Given the description of an element on the screen output the (x, y) to click on. 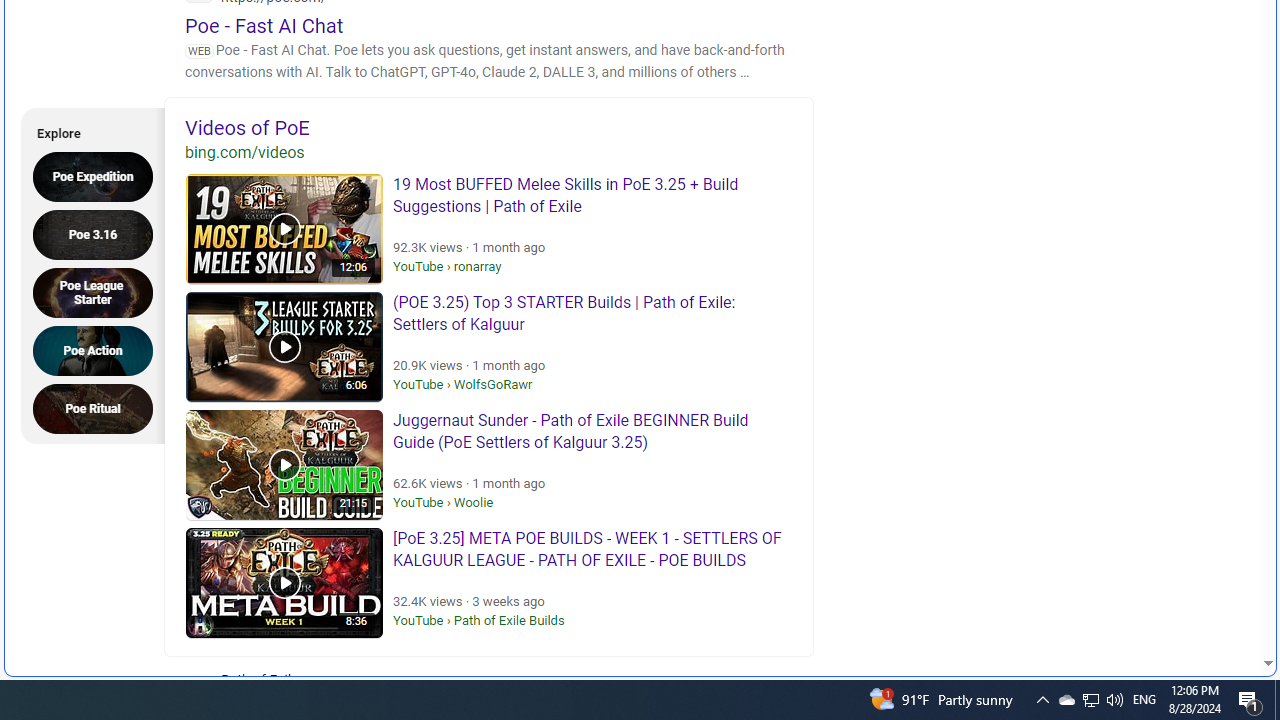
Search more (1222, 604)
Poe 3.16 (99, 233)
Poe - Fast AI Chat (264, 25)
